Given the description of an element on the screen output the (x, y) to click on. 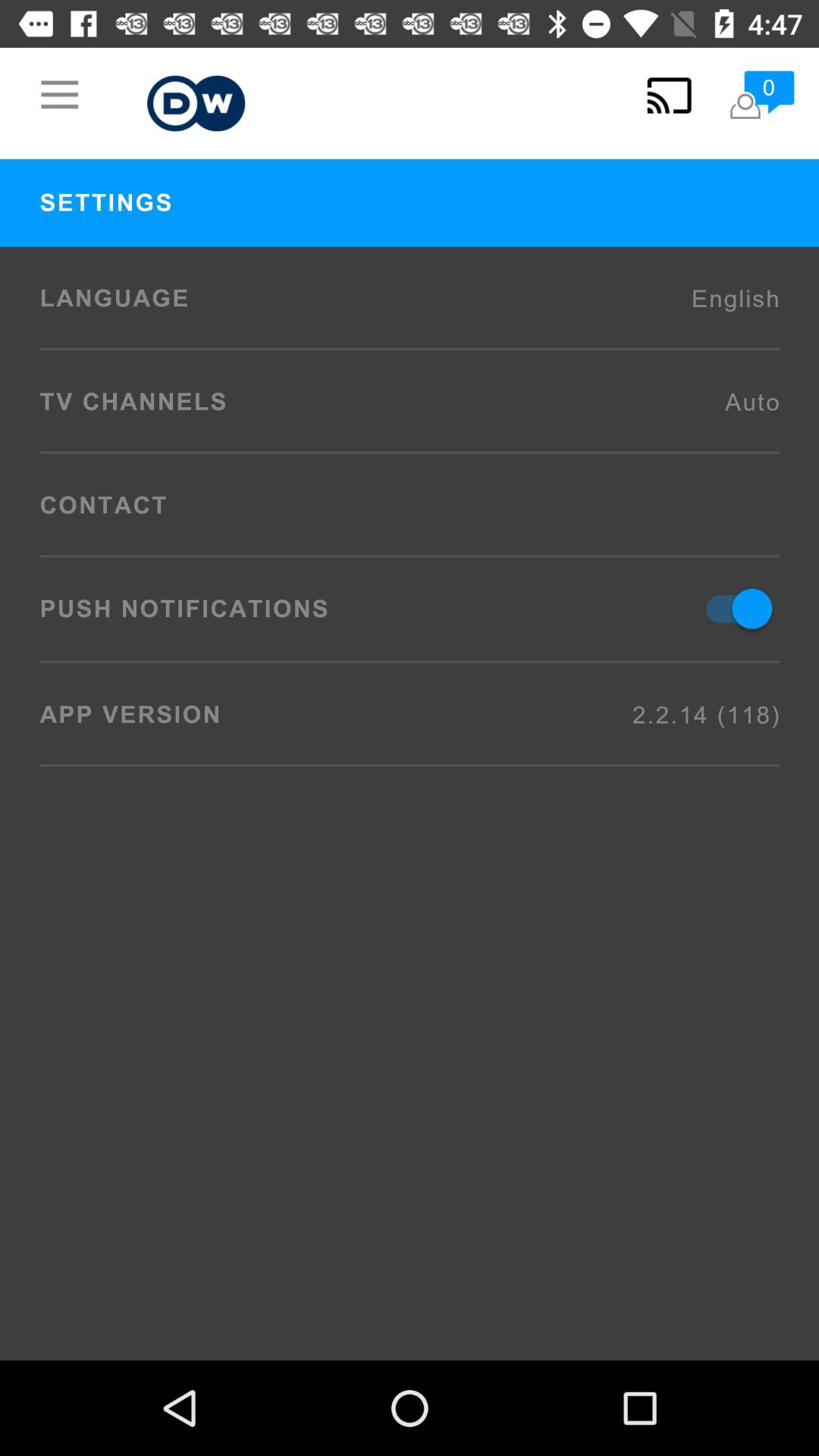
flip to 0 icon (760, 95)
